Given the description of an element on the screen output the (x, y) to click on. 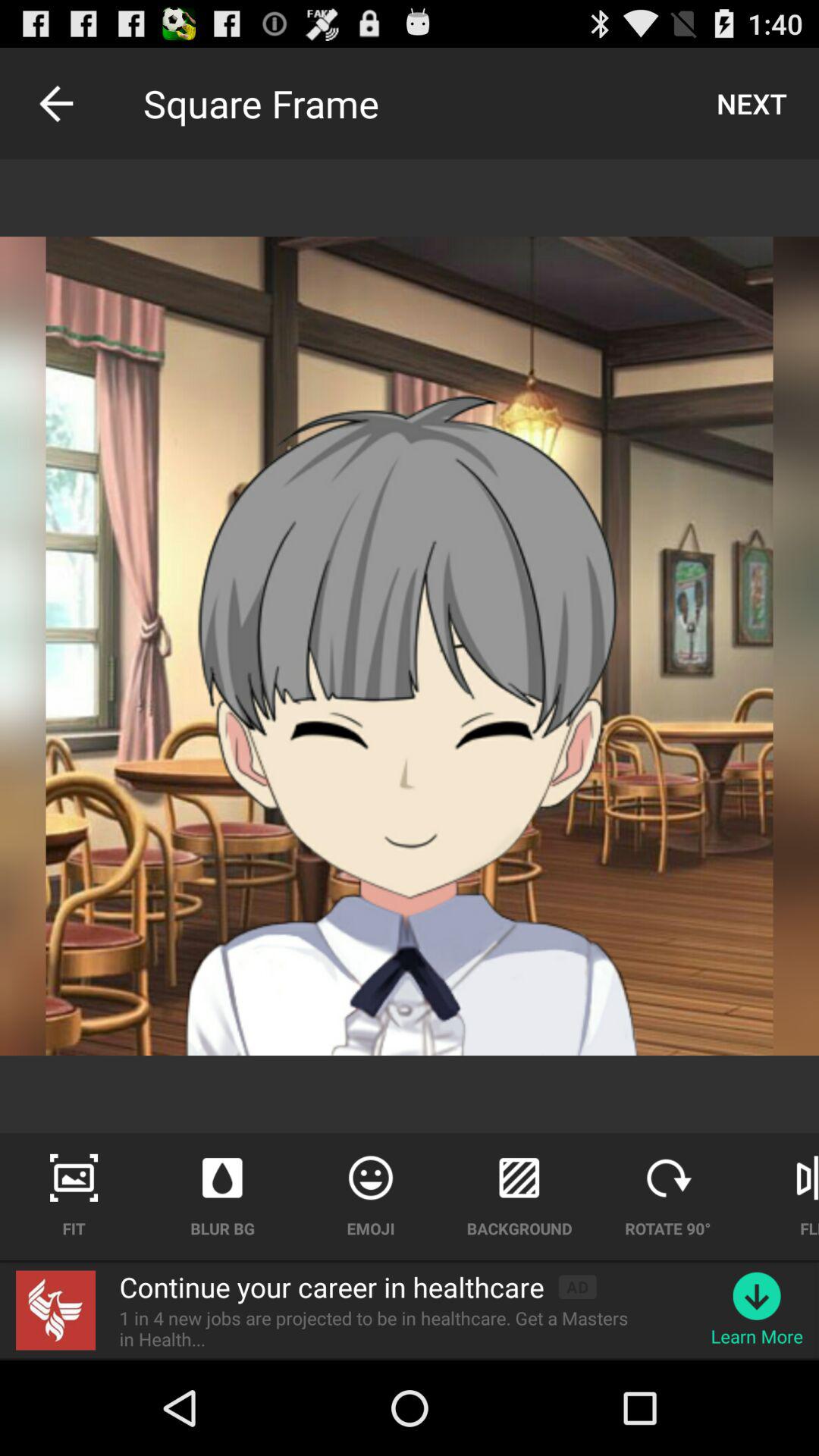
press app above the 1 in 4 app (577, 1287)
